Given the description of an element on the screen output the (x, y) to click on. 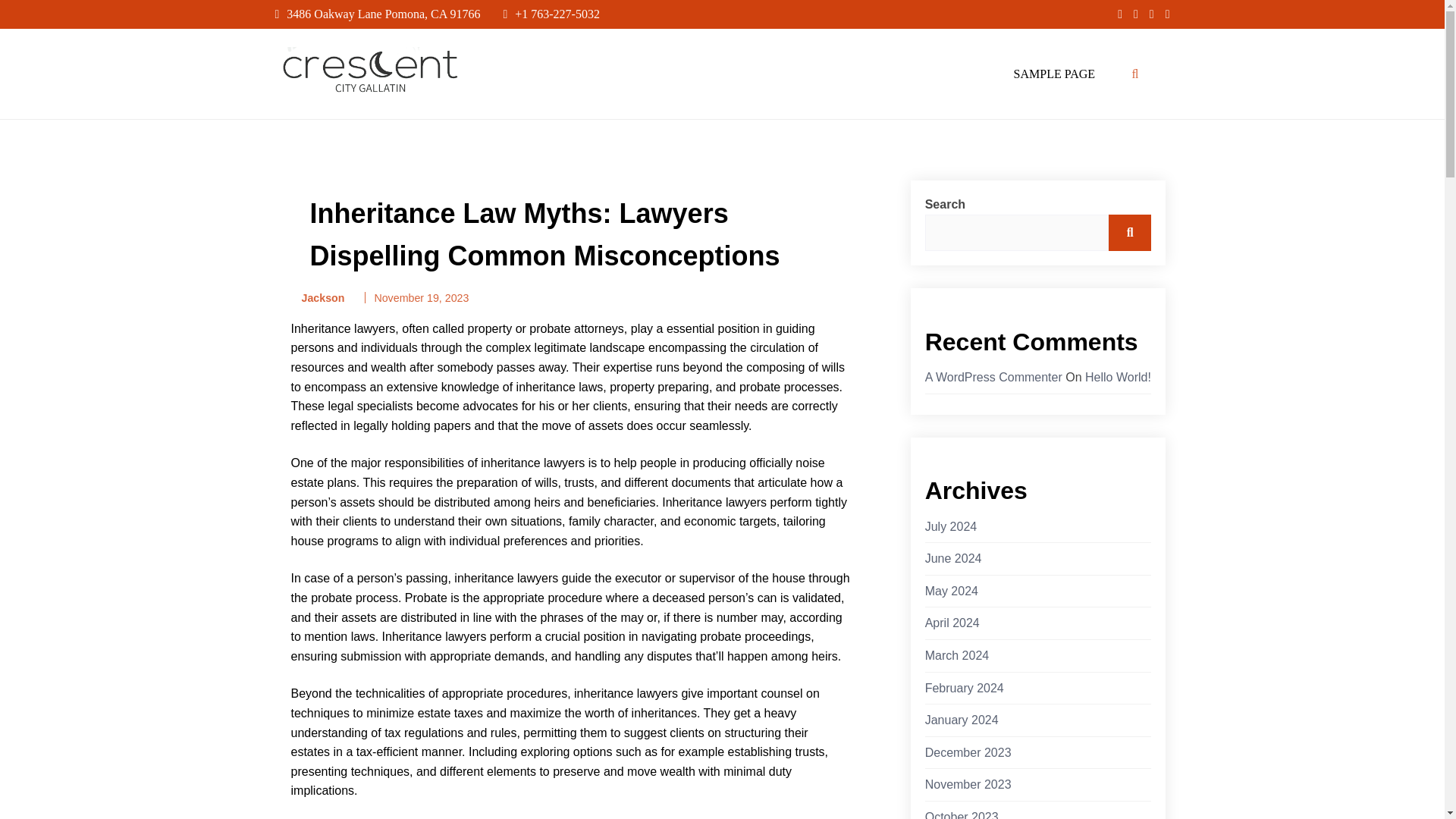
crescent city gallatin (341, 112)
Search (1129, 232)
A WordPress Commenter (993, 377)
Jackson (318, 298)
SAMPLE PAGE (1054, 73)
November 19, 2023 (421, 297)
